Given the description of an element on the screen output the (x, y) to click on. 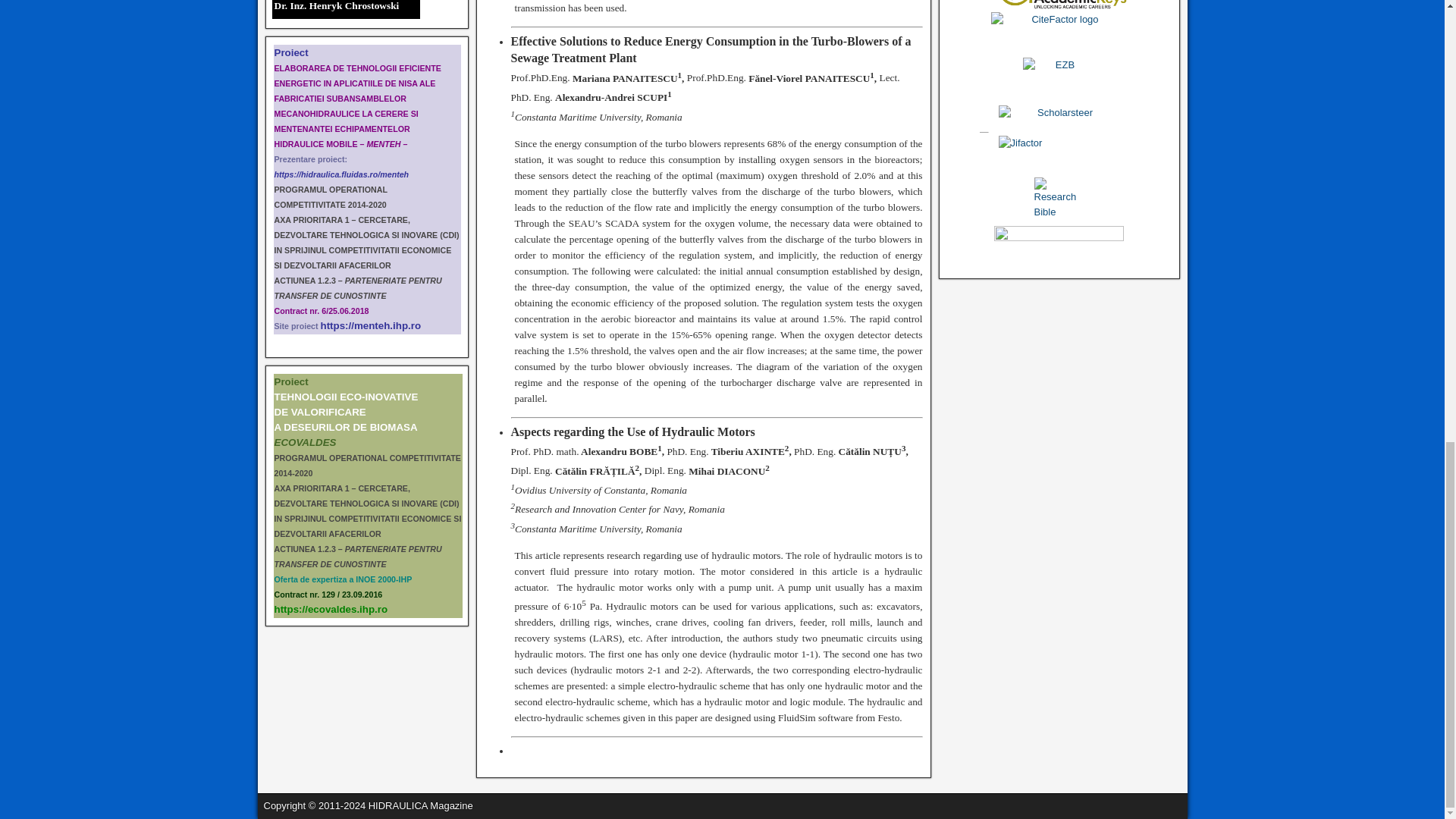
Oferta de expertiza a INOE 2000-IHP (336, 5)
HIDRAULICA Magazine is indexed by Academic Keys (343, 578)
